Given the description of an element on the screen output the (x, y) to click on. 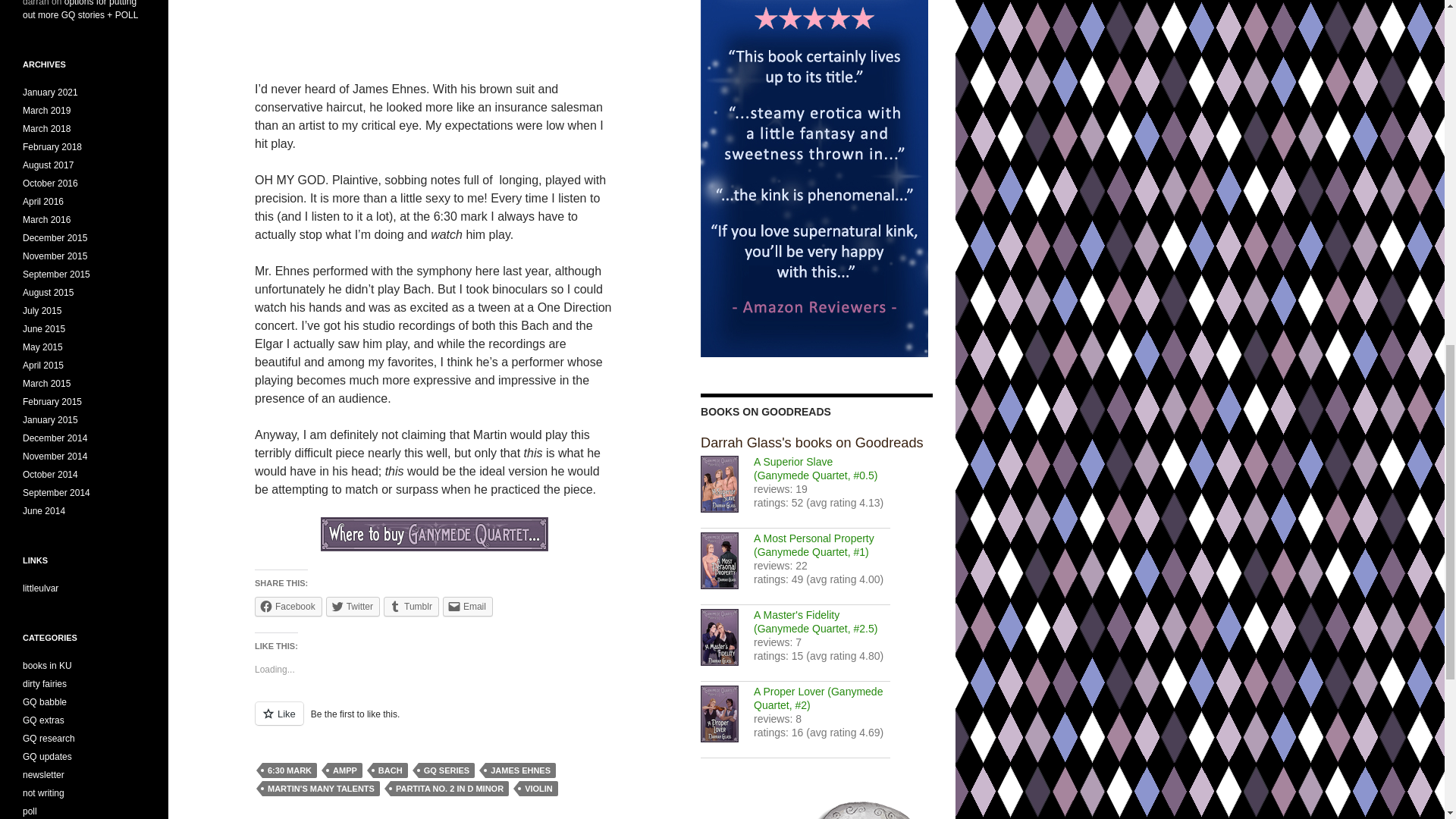
Email (467, 606)
Darrah Glass's books on Goodreads (811, 442)
AMPP (344, 770)
Click to share on Facebook (287, 606)
Tumblr (411, 606)
Click to email a link to a friend (467, 606)
VIOLIN (538, 788)
Facebook (287, 606)
Click to share on Tumblr (411, 606)
Click to share on Twitter (353, 606)
PARTITA NO. 2 IN D MINOR (449, 788)
MARTIN'S MANY TALENTS (321, 788)
BACH (389, 770)
6:30 MARK (289, 770)
JAMES EHNES (520, 770)
